Given the description of an element on the screen output the (x, y) to click on. 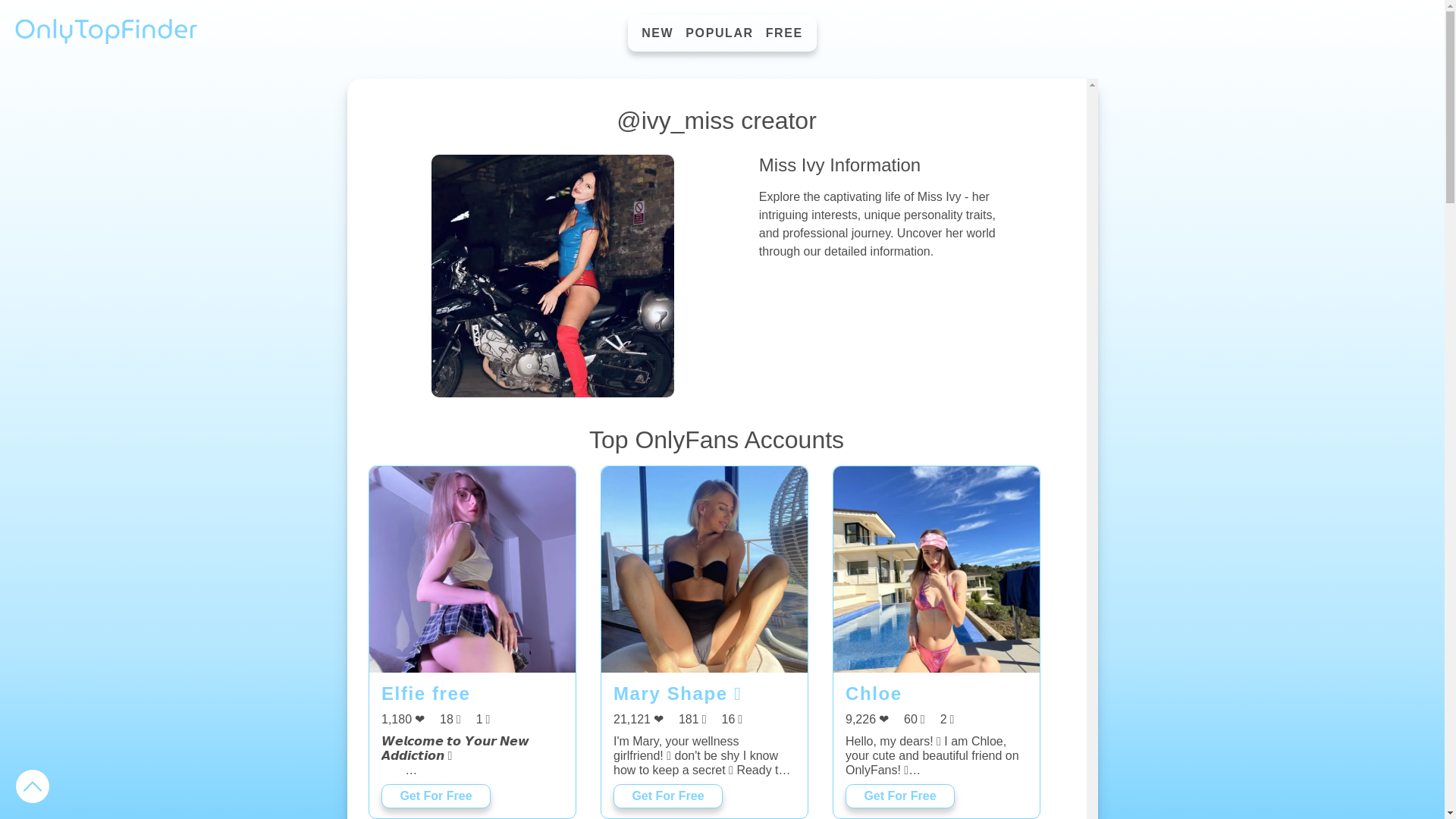
Get For Free (667, 795)
POPULAR (718, 33)
Get For Free (435, 795)
Get For Free (900, 795)
FREE (784, 33)
NEW (656, 33)
